Given the description of an element on the screen output the (x, y) to click on. 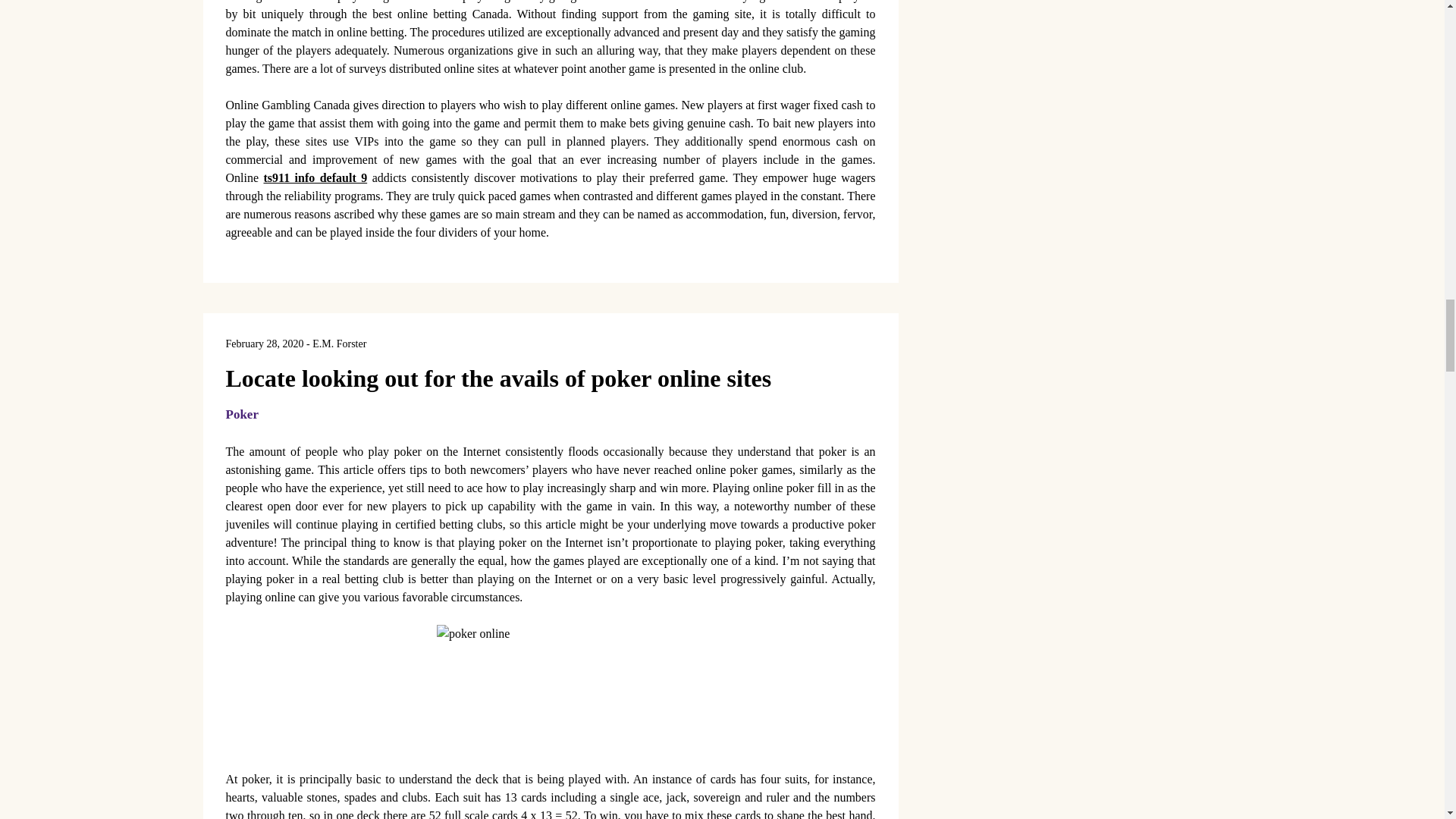
ts911 info default 9 (315, 177)
February 28, 2020 (264, 343)
Locate looking out for the avails of poker online sites (498, 378)
E.M. Forster (339, 343)
Poker (242, 414)
